Given the description of an element on the screen output the (x, y) to click on. 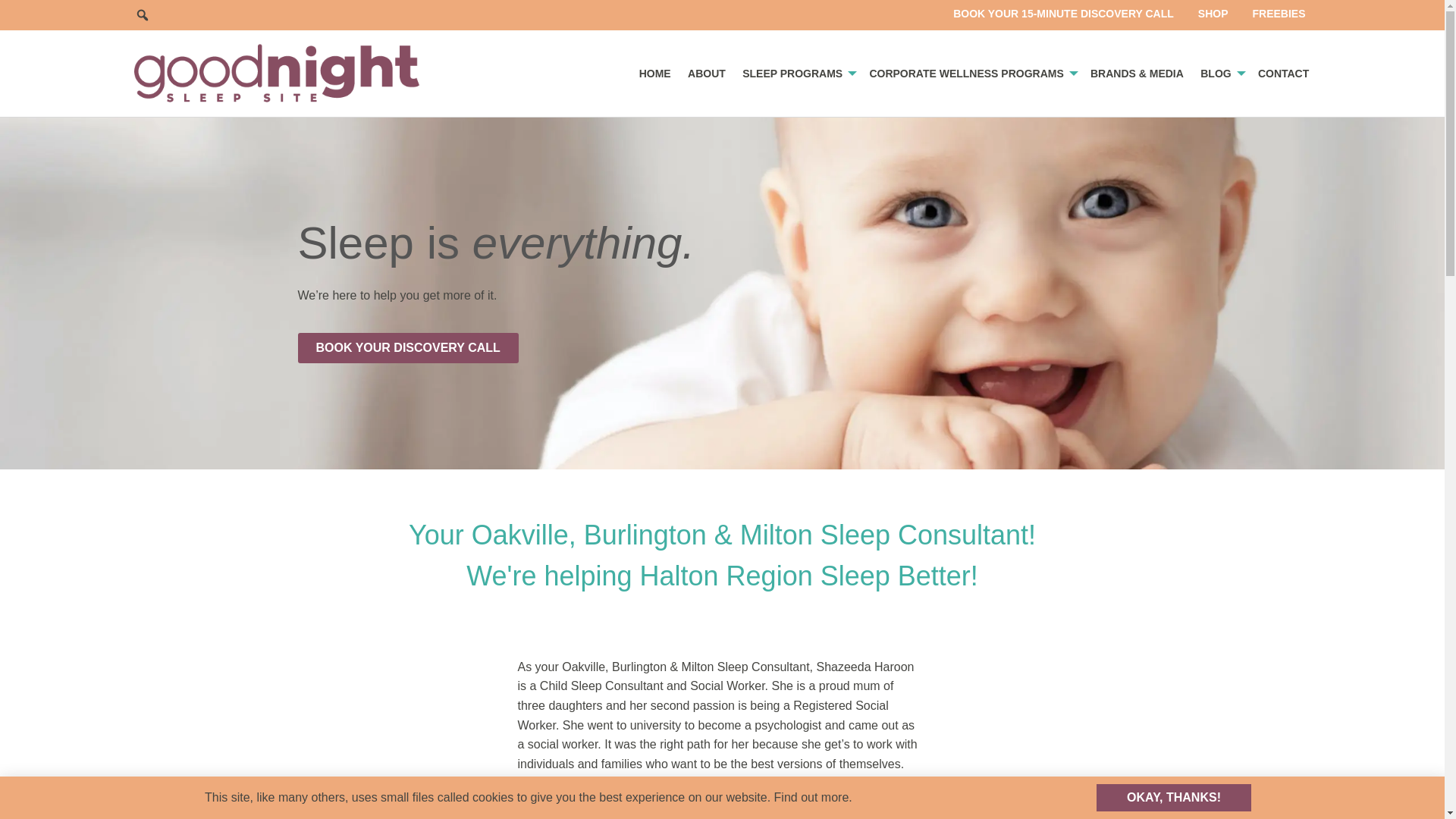
SHOP (1213, 13)
FREEBIES (1278, 13)
ABOUT (706, 72)
HOME (654, 72)
BOOK YOUR 15-MINUTE DISCOVERY CALL (1063, 13)
Search (142, 15)
SLEEP PROGRAMS (796, 72)
